Given the description of an element on the screen output the (x, y) to click on. 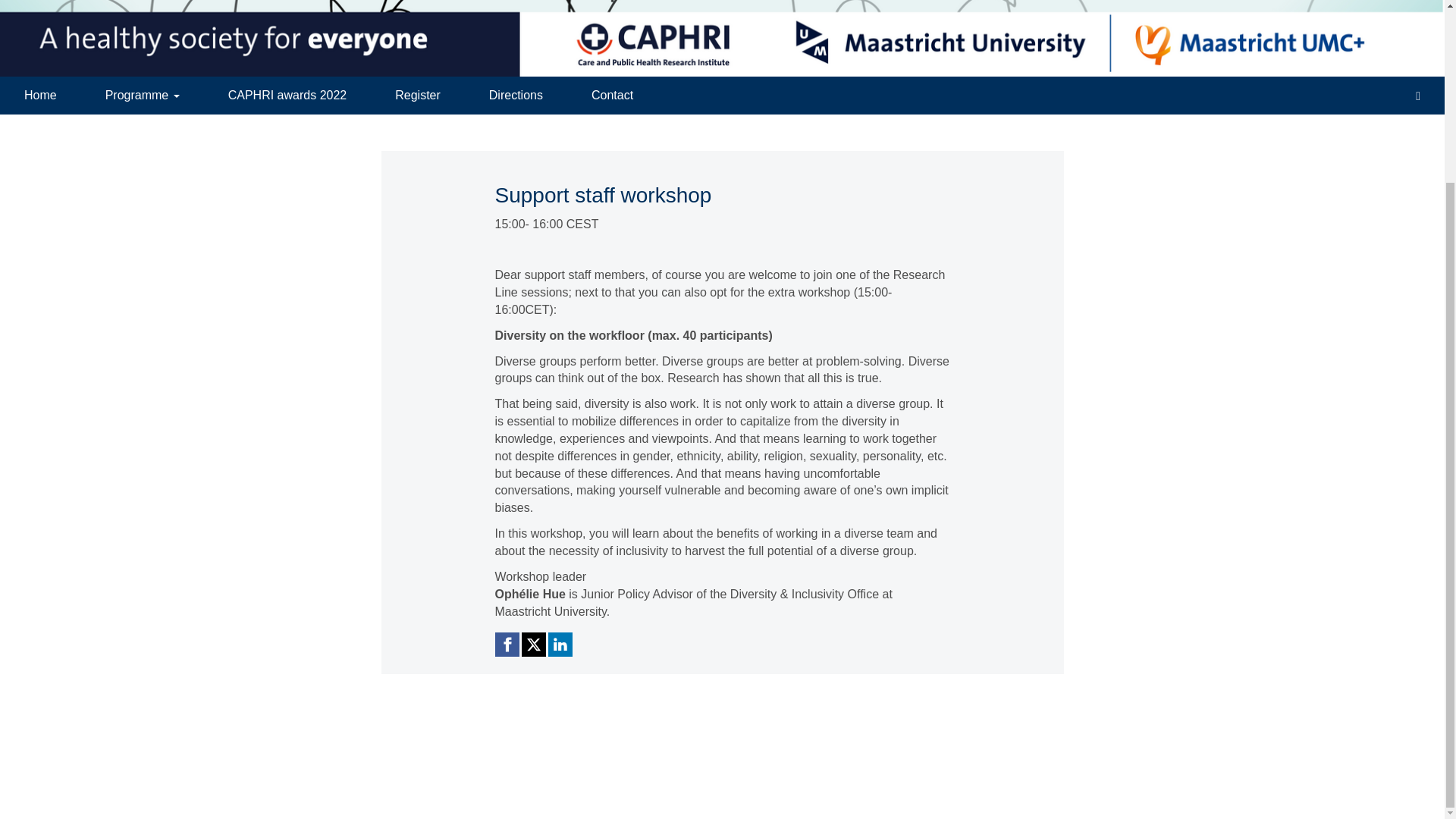
Contact (612, 95)
Programme (142, 95)
Register (417, 95)
Home (40, 95)
CAPHRI awards 2022 (287, 95)
Directions (515, 95)
